Given the description of an element on the screen output the (x, y) to click on. 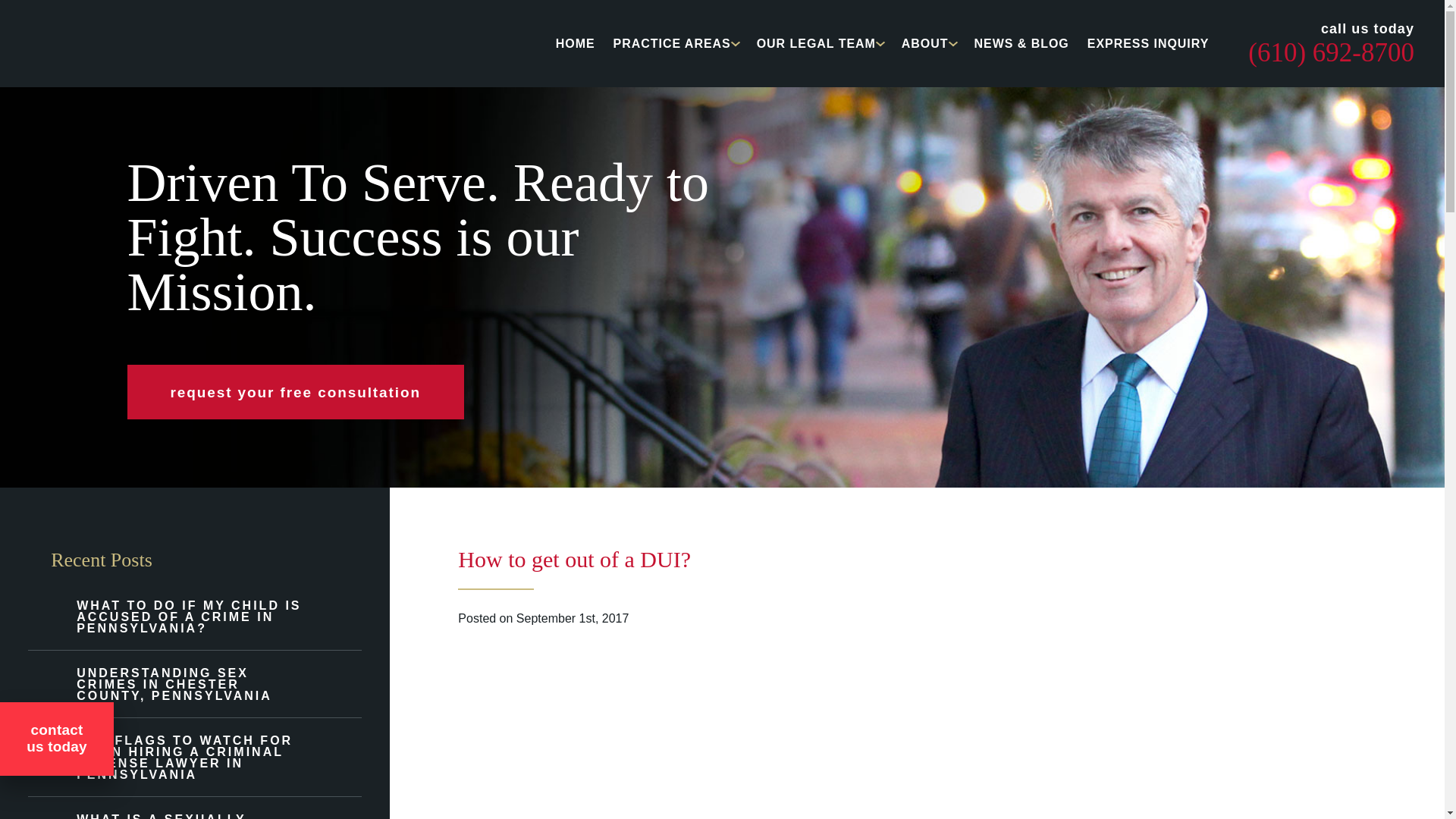
HOME (575, 42)
ABOUT (925, 42)
How to get out of a DUI? (574, 559)
OUR LEGAL TEAM (816, 42)
PRACTICE AREAS (671, 42)
